Given the description of an element on the screen output the (x, y) to click on. 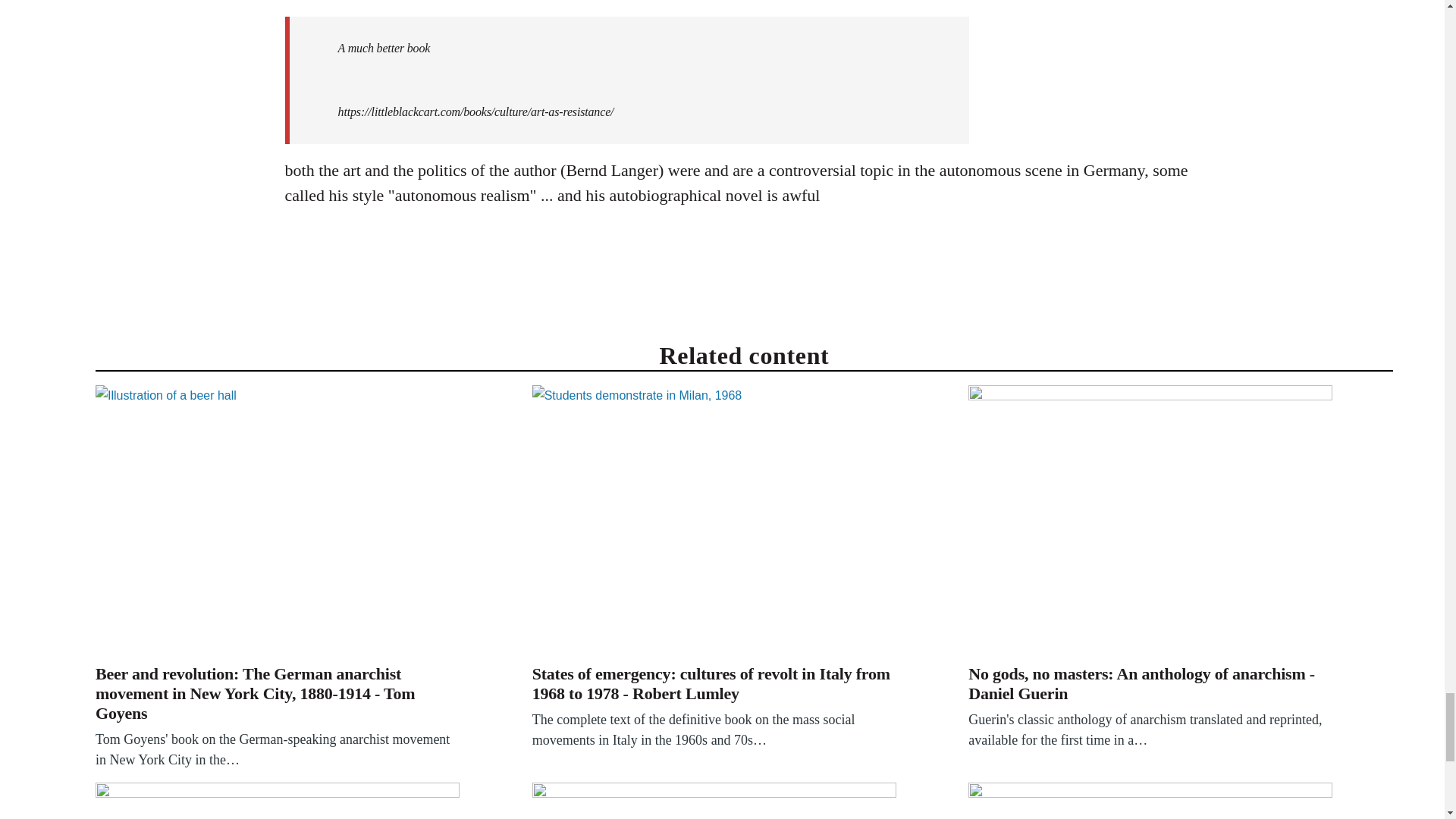
An Autonom (714, 800)
Students demonstrate in Milan, 1968 (714, 521)
Illustration of a beer hall (278, 521)
